Given the description of an element on the screen output the (x, y) to click on. 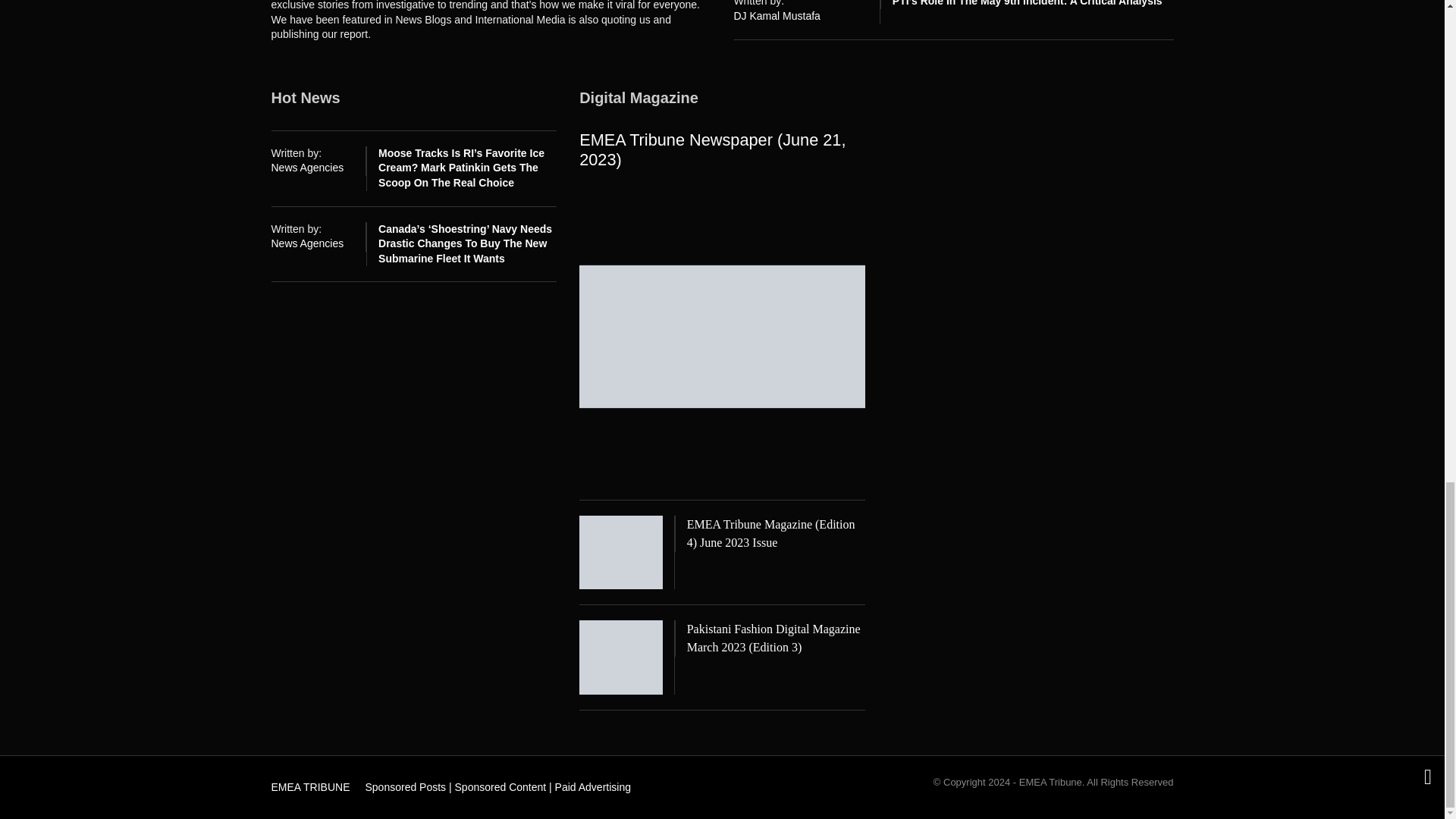
Skip to content (303, 782)
